Given the description of an element on the screen output the (x, y) to click on. 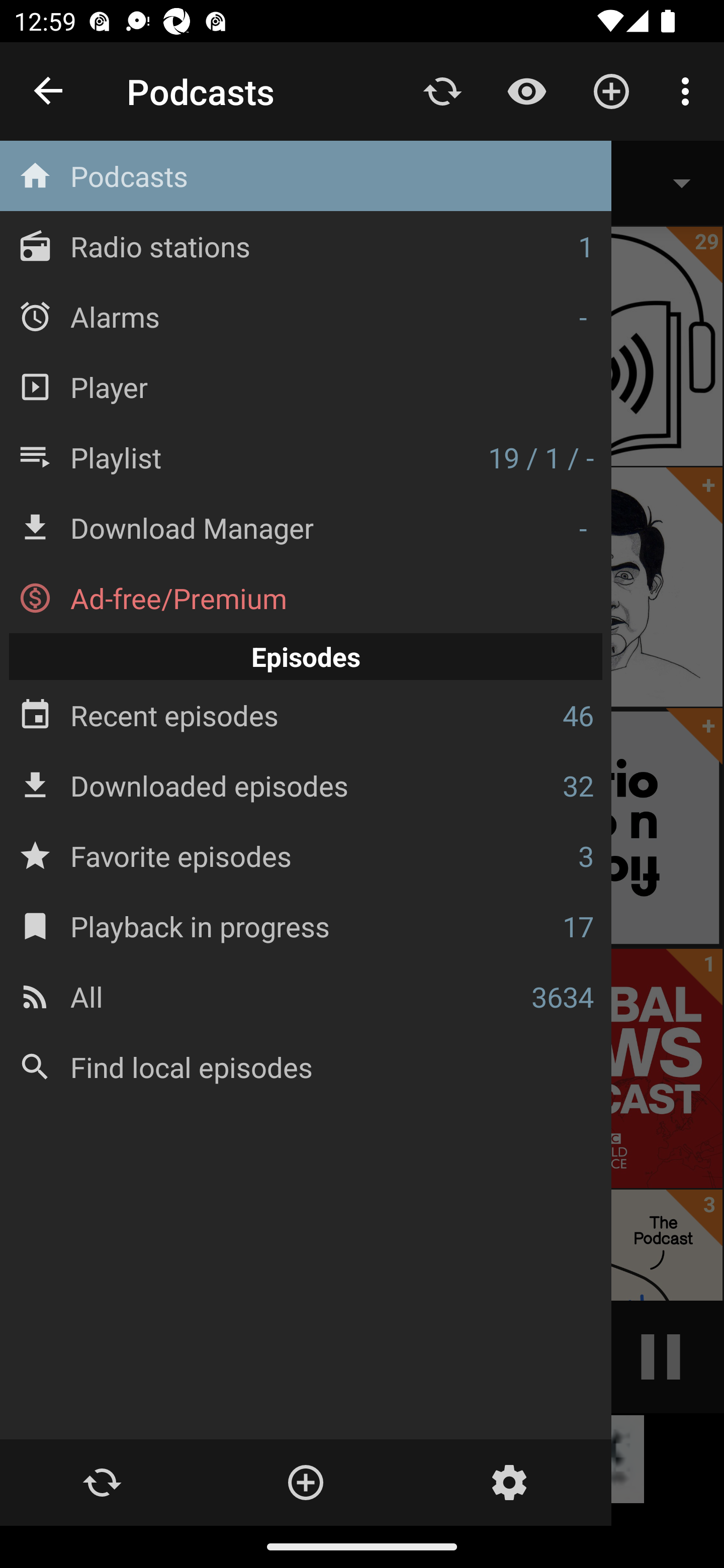
Close navigation sidebar (49, 91)
Update (442, 90)
Show / Hide played content (526, 90)
Add new Podcast (611, 90)
More options (688, 90)
Podcasts (305, 176)
Radio stations 1 (305, 245)
Alarms  -  (305, 315)
Player (305, 386)
Playlist 19 / 1 / - (305, 456)
Download Manager  -  (305, 527)
Ad-free/Premium (305, 597)
Recent episodes 46 (305, 715)
Downloaded episodes 32 (305, 785)
Favorite episodes 3 (305, 855)
Playback in progress 17 (305, 925)
All 3634 (305, 996)
Find local episodes (305, 1066)
Update (101, 1482)
Add new Podcast (304, 1482)
Settings (508, 1482)
